Given the description of an element on the screen output the (x, y) to click on. 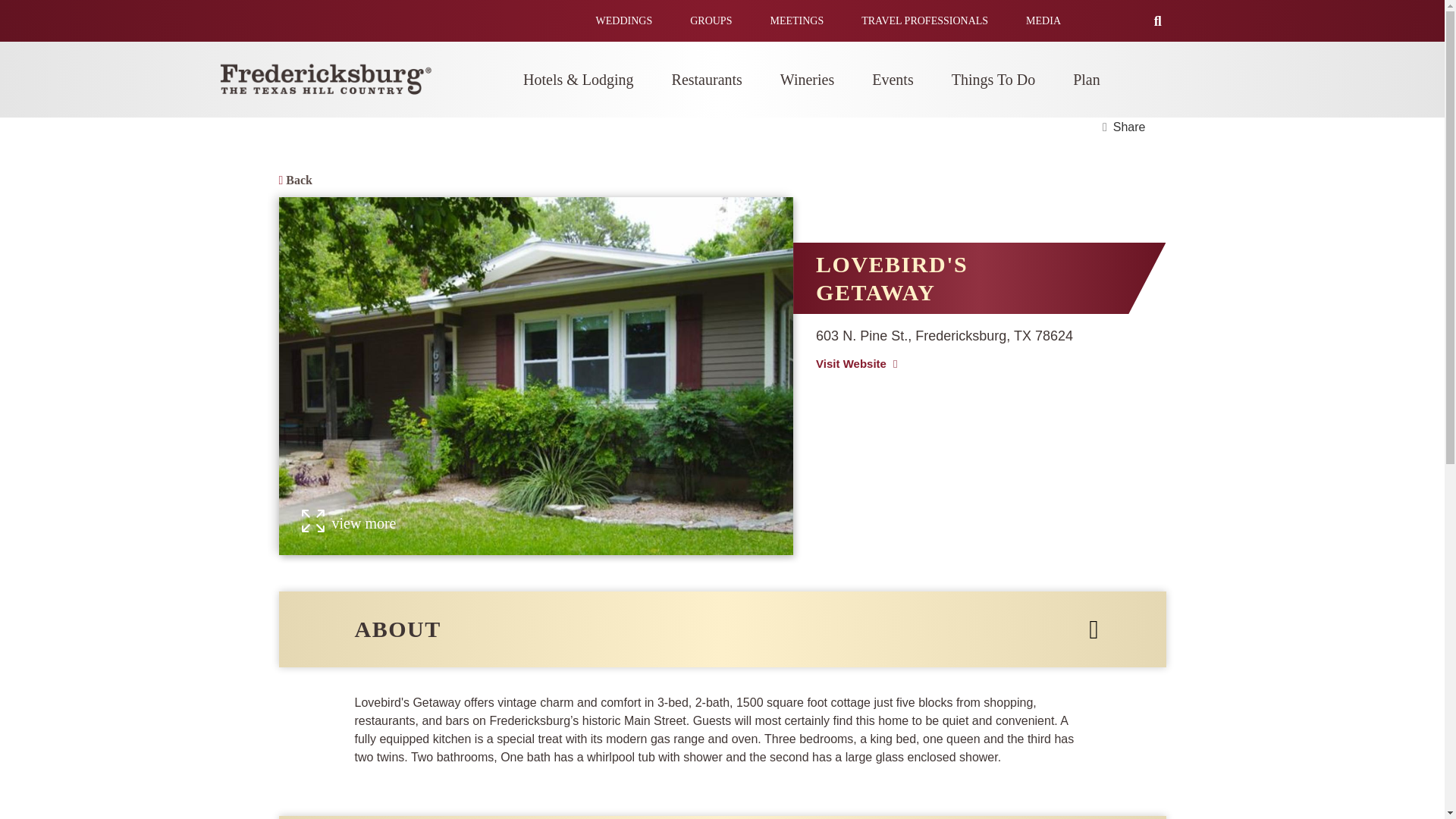
MEETINGS (797, 20)
GROUPS (711, 20)
MEDIA (1043, 20)
WEDDINGS (623, 20)
TRAVEL PROFESSIONALS (924, 20)
